Given the description of an element on the screen output the (x, y) to click on. 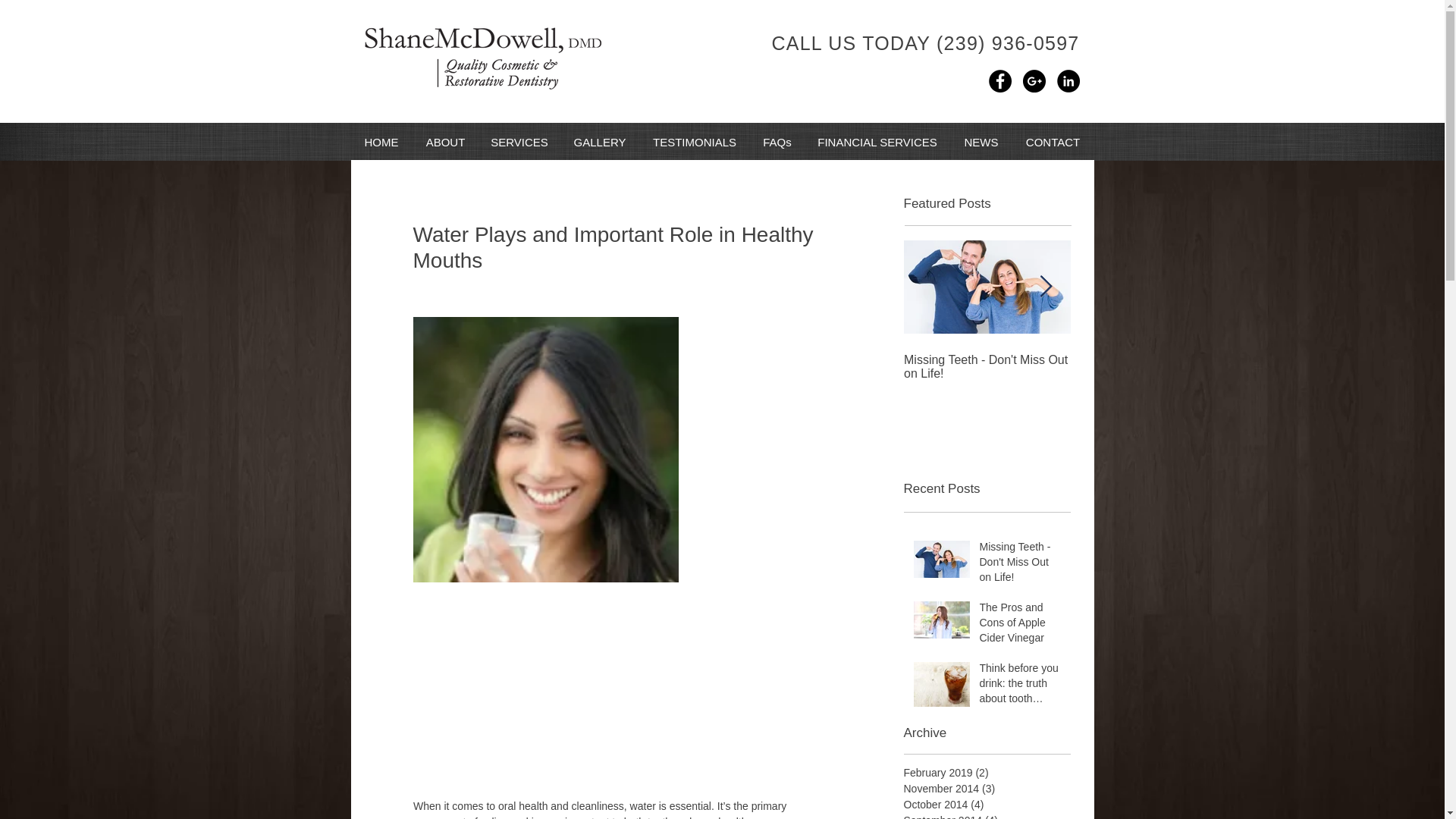
The Pros and Cons of Apple Cider Vinegar (1153, 366)
Missing Teeth - Don't Miss Out on Life! (1020, 564)
Think before you drink: the truth about tooth enamel (1020, 685)
TESTIMONIALS (694, 141)
ABOUT (445, 141)
GALLERY (599, 141)
The Pros and Cons of Apple Cider Vinegar (1020, 625)
NEWS (980, 141)
CONTACT (1053, 141)
Missing Teeth - Don't Miss Out on Life! (987, 366)
HOME (381, 141)
FAQs (777, 141)
FINANCIAL SERVICES (877, 141)
